Given the description of an element on the screen output the (x, y) to click on. 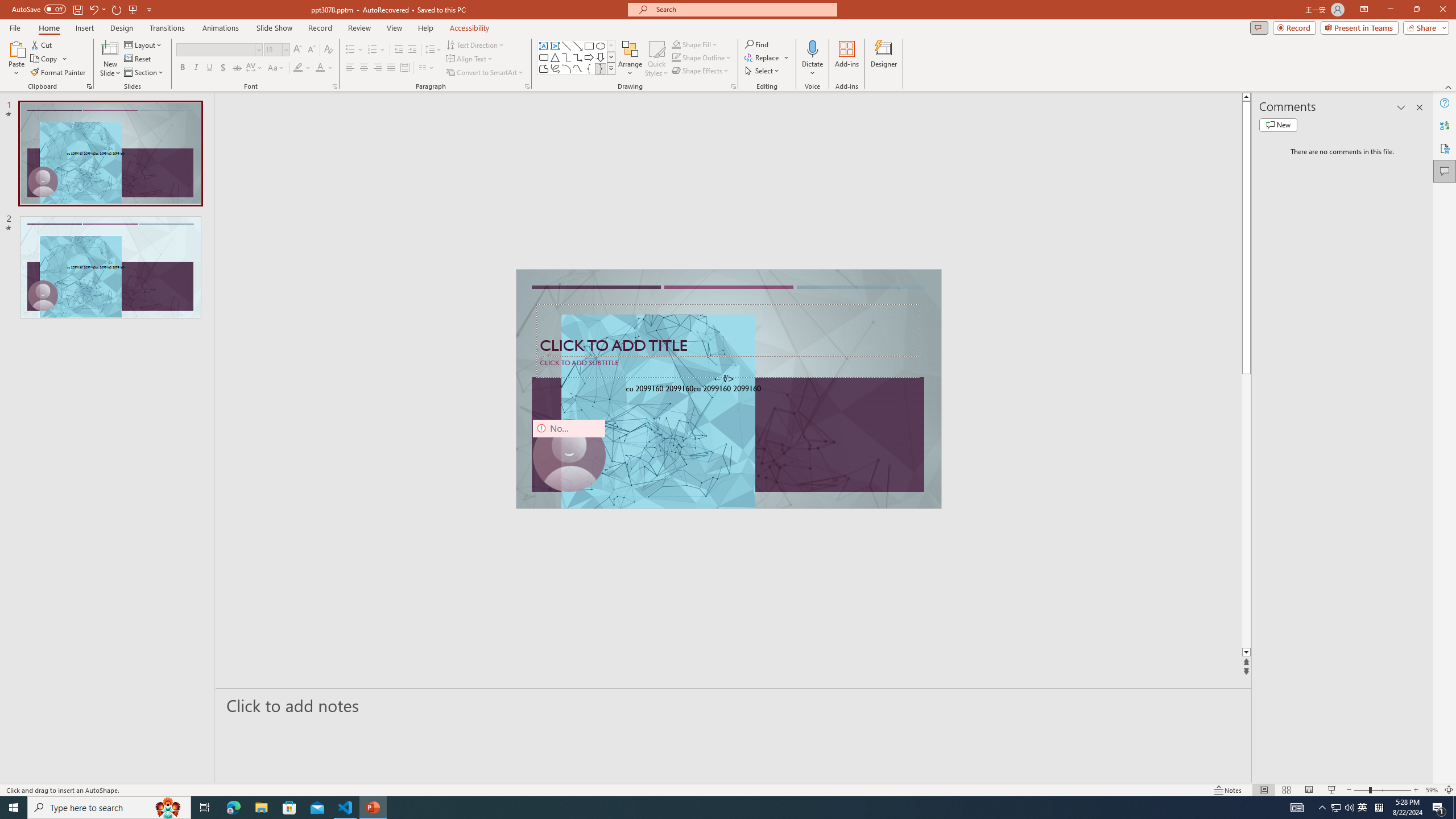
Reset (138, 58)
Title TextBox (727, 330)
Slide (110, 267)
Replace... (767, 56)
Vertical Text Box (554, 45)
Text Direction (476, 44)
Change Case (276, 67)
Close pane (1419, 107)
Align Right (377, 67)
Layout (143, 44)
Dictate (812, 58)
